Given the description of an element on the screen output the (x, y) to click on. 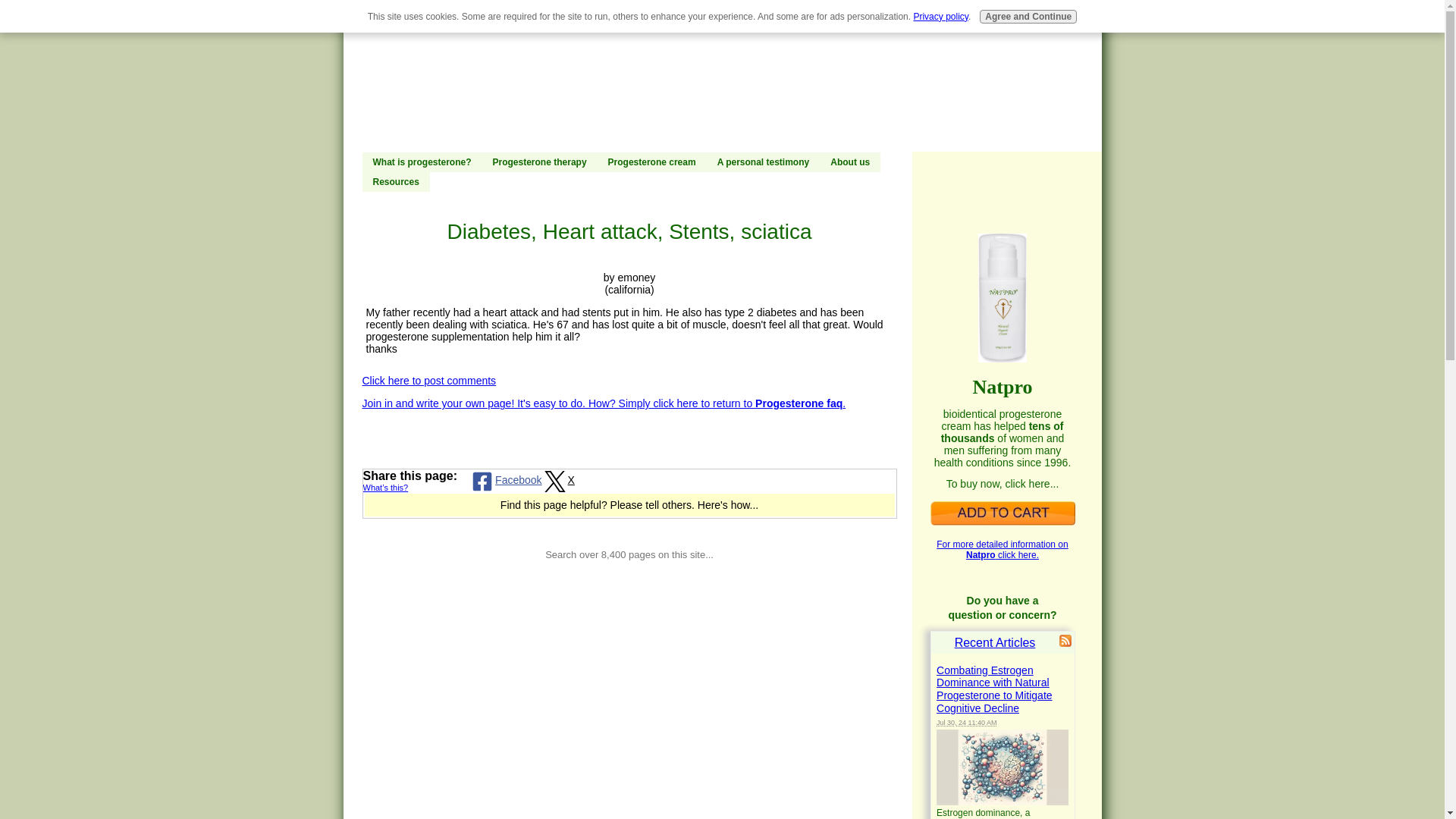
Natpro progesterone cream (1002, 513)
natpro dispenser (1002, 297)
2024-07-30T11:40:51-0400 (966, 722)
